Given the description of an element on the screen output the (x, y) to click on. 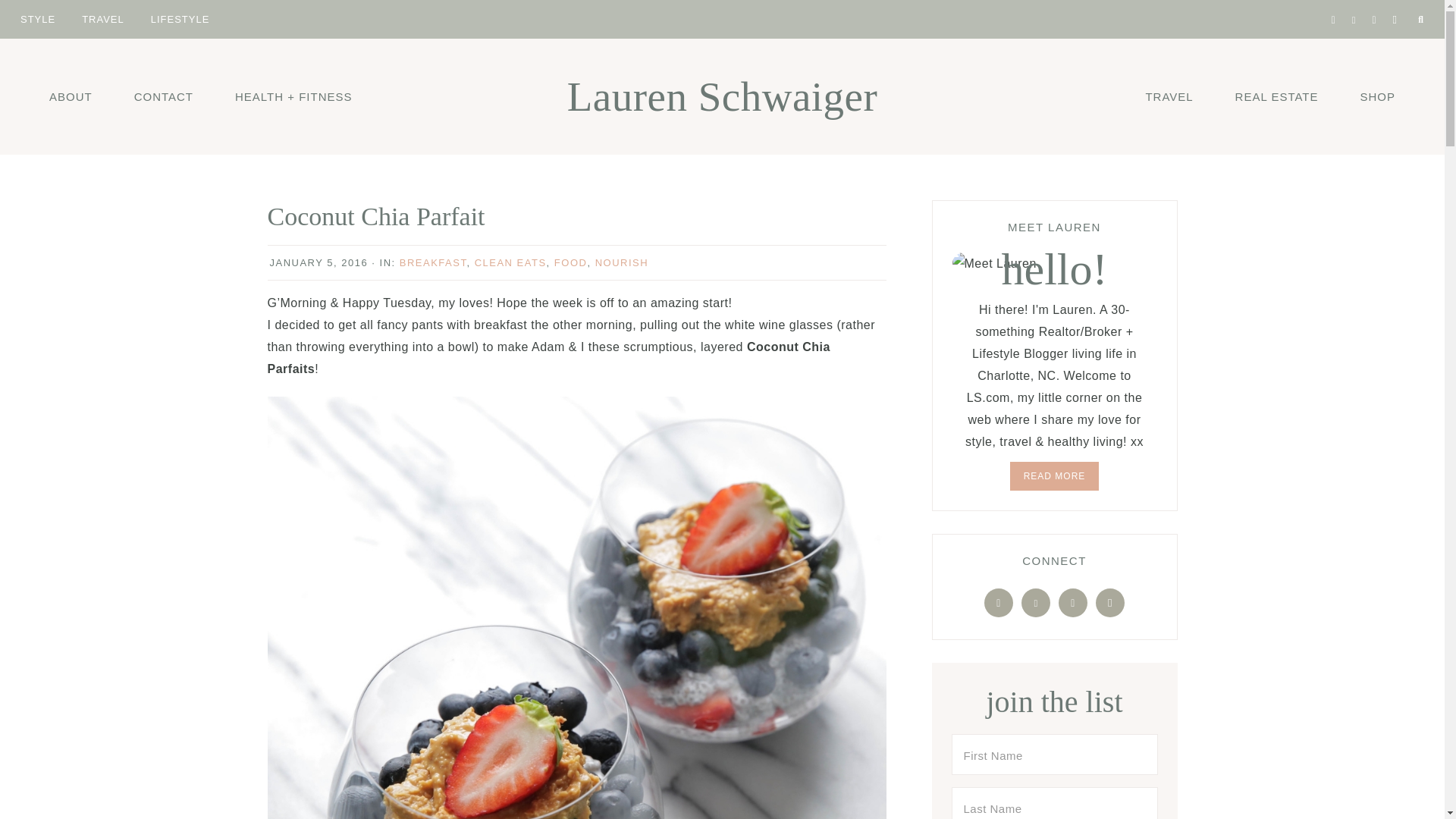
LIFESTYLE (180, 18)
CONTACT (163, 95)
BREAKFAST (432, 262)
SHOP (1376, 95)
ABOUT (71, 95)
TRAVEL (102, 18)
STYLE (37, 18)
TRAVEL (1168, 95)
REAL ESTATE (1276, 95)
